Given the description of an element on the screen output the (x, y) to click on. 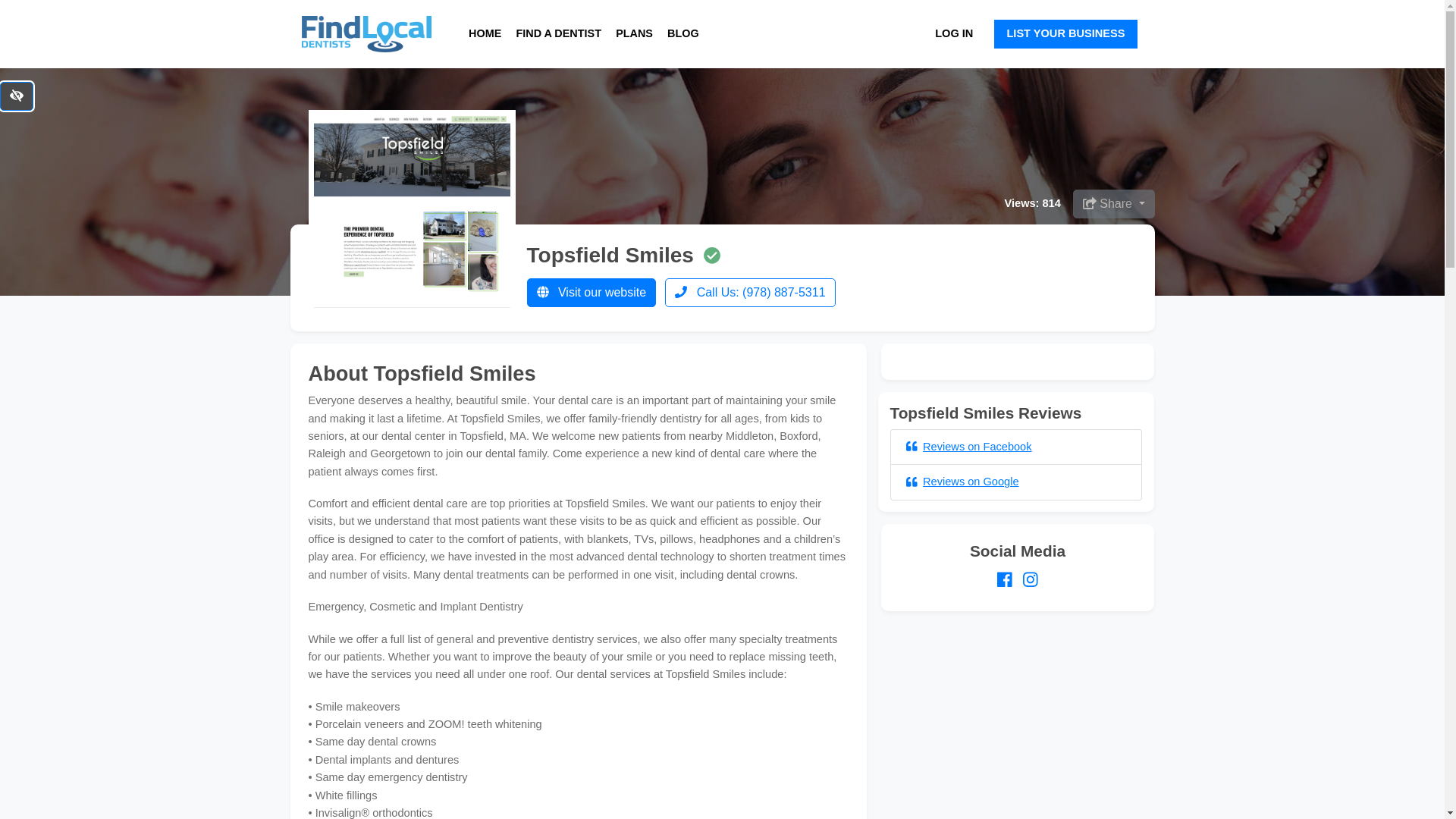
FIND A DENTIST (557, 33)
HOME (484, 33)
Share (1113, 203)
Skip to main content (5, 5)
LIST YOUR BUSINESS (1065, 33)
PLANS (633, 33)
Visit our website (590, 292)
BLOG (682, 33)
Reviews on Facebook (967, 446)
LOG IN (953, 33)
Reviews on Google (961, 481)
